Given the description of an element on the screen output the (x, y) to click on. 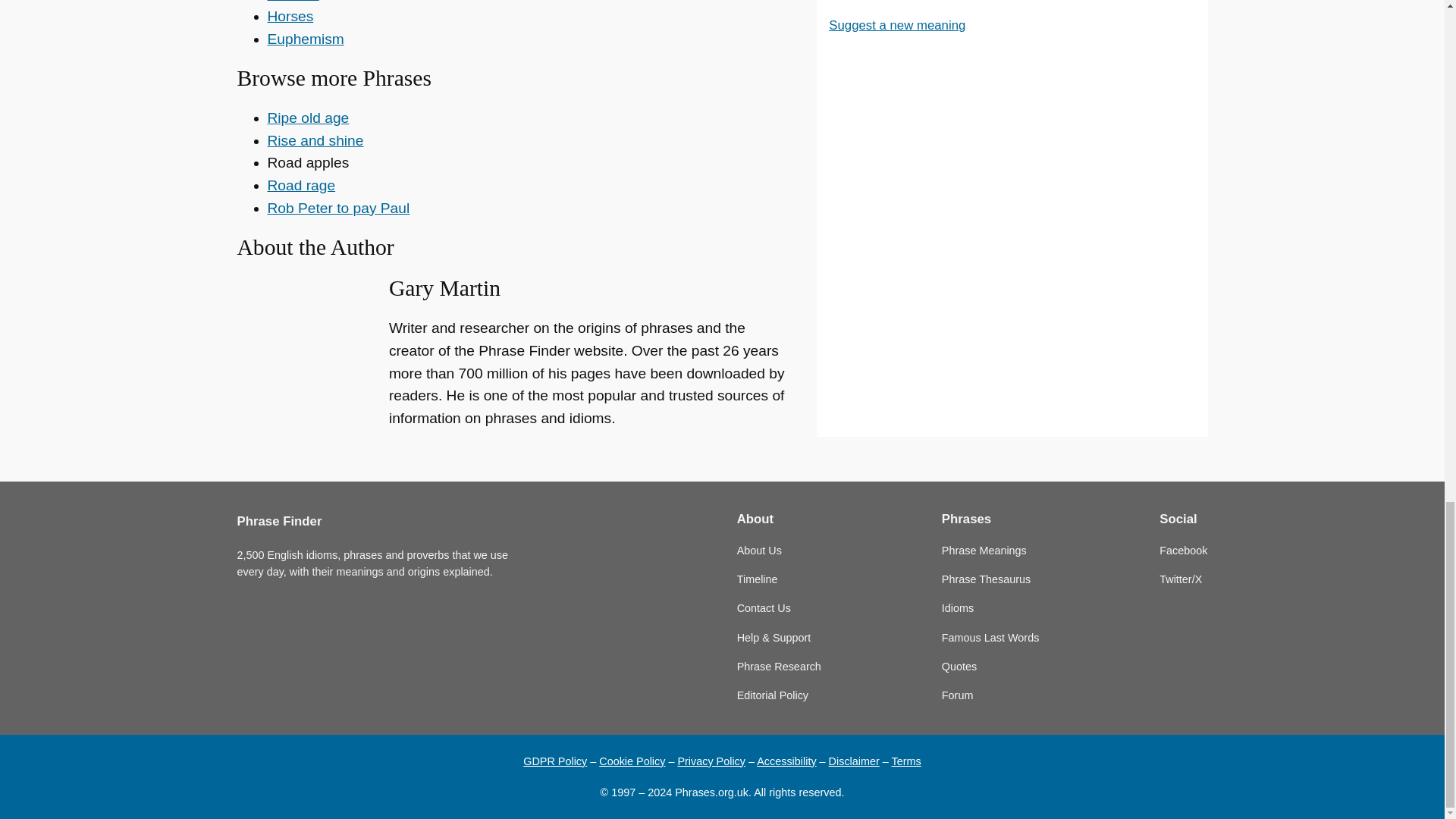
Animals (292, 1)
Euphemism (304, 38)
Rob Peter to pay Paul (337, 207)
Animals (292, 1)
Road rage (300, 185)
Road rage (300, 185)
Rob Peter to pay Paul (337, 207)
Rise and shine (314, 140)
Horses (289, 16)
Ripe old age (307, 117)
